Given the description of an element on the screen output the (x, y) to click on. 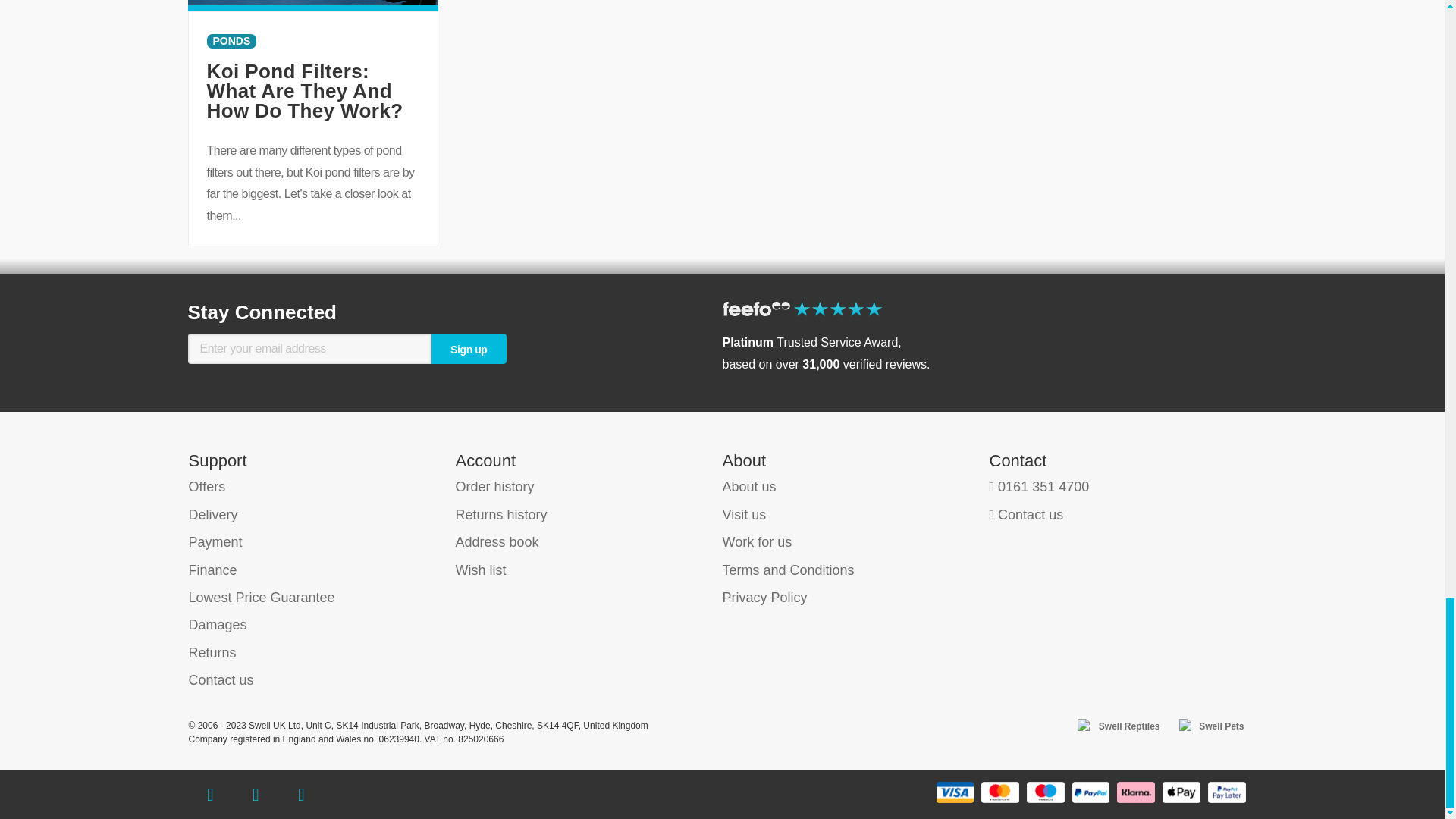
Koi Pond Filters: What Are They And How Do They Work? (304, 90)
Sign up (467, 348)
